Given the description of an element on the screen output the (x, y) to click on. 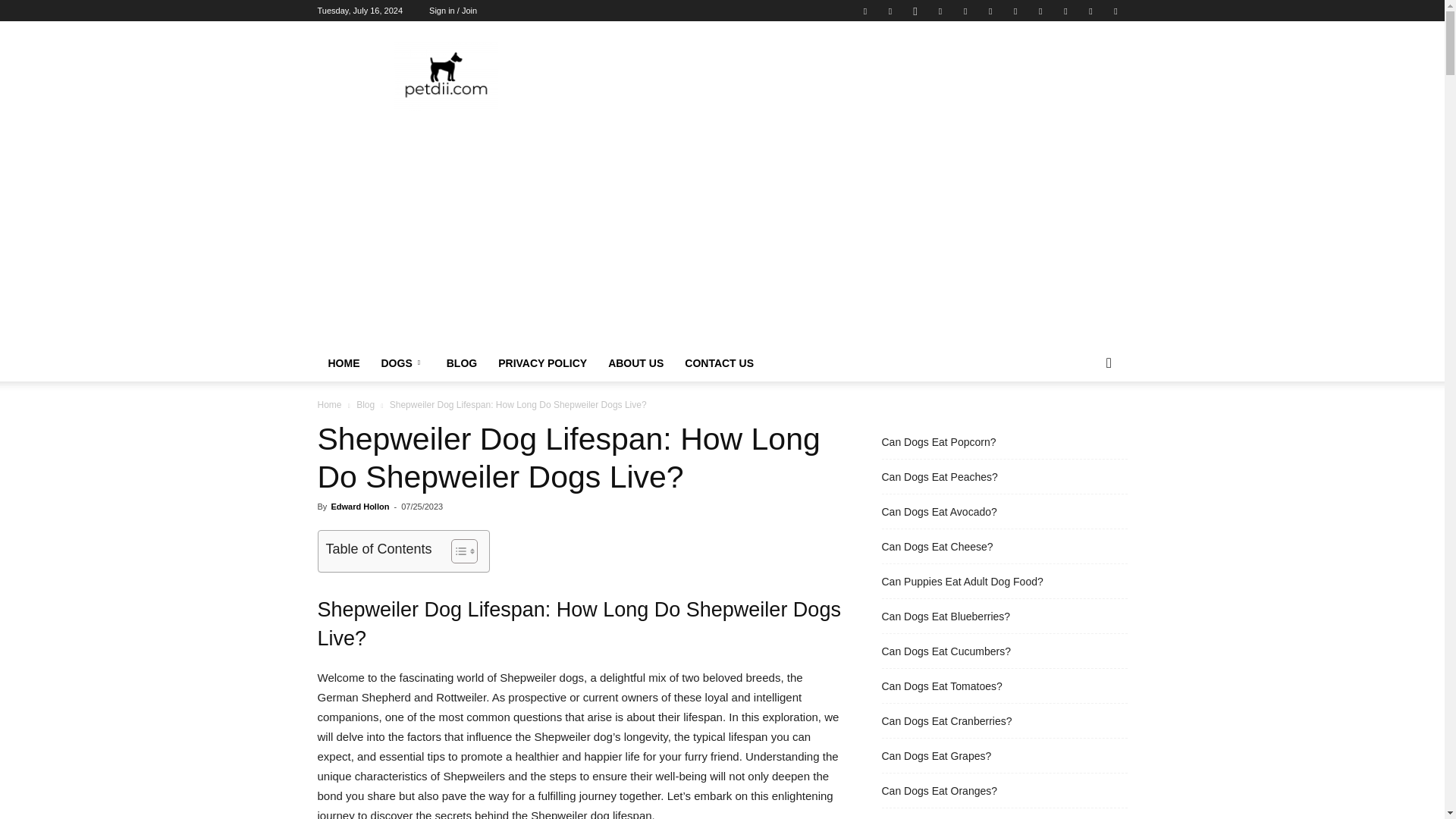
Flickr (890, 10)
Evernote (864, 10)
Pinterest (964, 10)
Myspace (940, 10)
Instagram (915, 10)
